Given the description of an element on the screen output the (x, y) to click on. 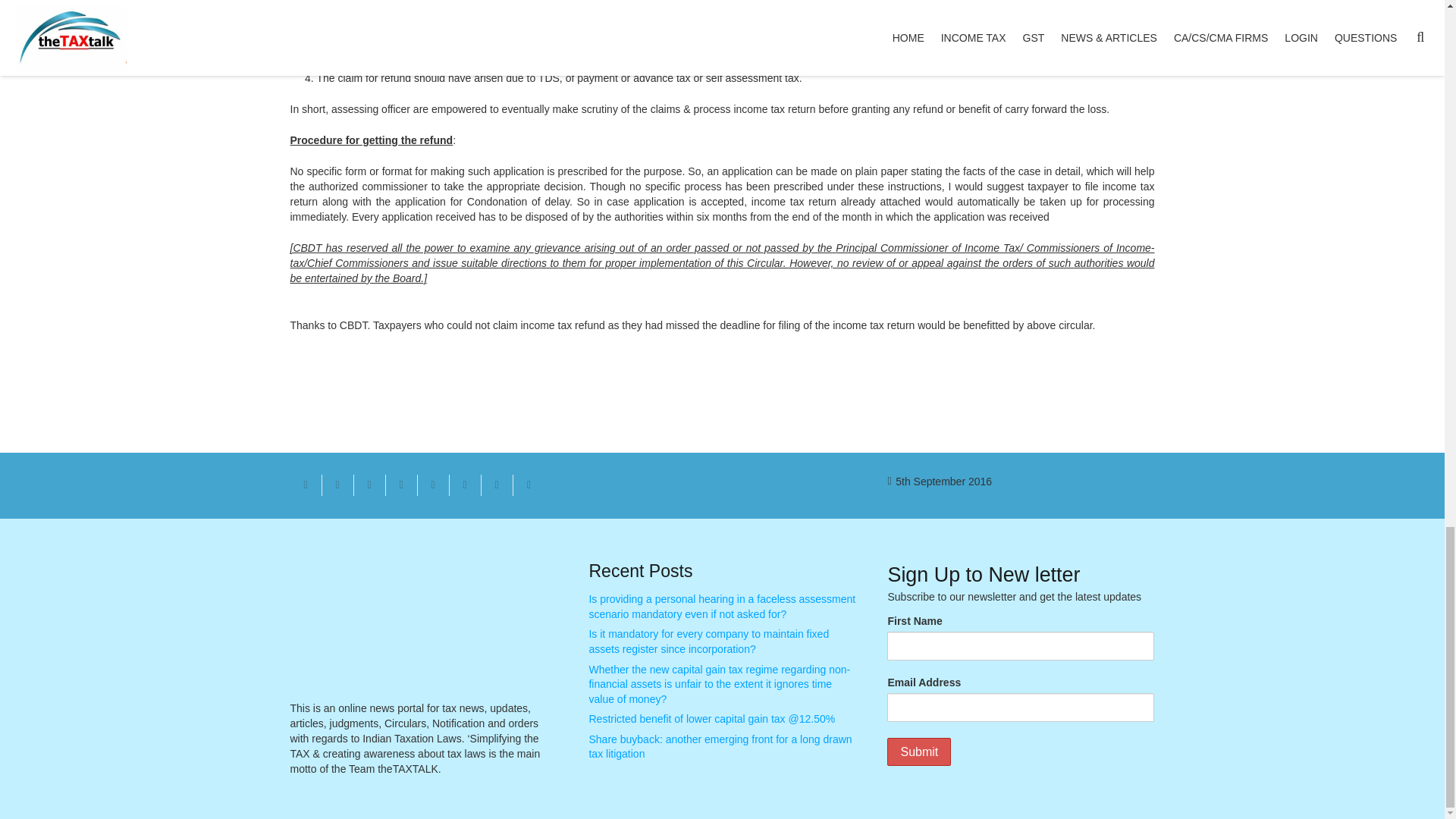
Pin this (432, 485)
Share this (464, 485)
Tweet this (369, 485)
Share this (528, 485)
Submit (918, 751)
Email this (305, 485)
Share this (337, 485)
Share this (400, 485)
Share this (496, 485)
